Given the description of an element on the screen output the (x, y) to click on. 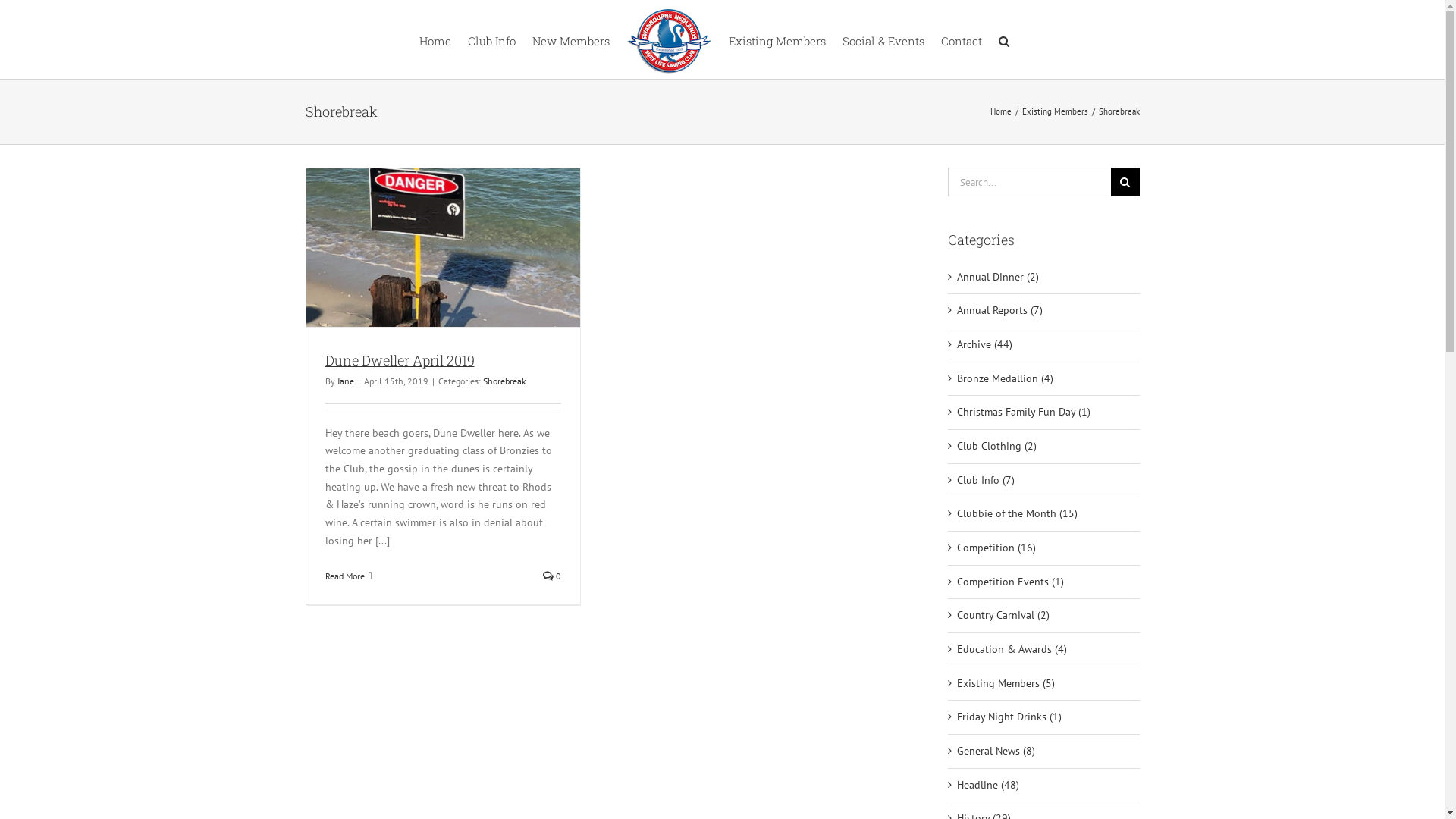
Existing Members (5) Element type: text (1044, 683)
 0 Element type: text (551, 575)
Dune Dweller April 2019 Element type: text (398, 360)
Club Info (7) Element type: text (1044, 480)
Search Element type: hover (1002, 39)
Competition (16) Element type: text (1044, 548)
Existing Members Element type: text (1055, 111)
Club Info Element type: text (490, 39)
Home Element type: text (1000, 111)
Jane Element type: text (344, 380)
Club Clothing (2) Element type: text (1044, 446)
Education & Awards (4) Element type: text (1044, 649)
Christmas Family Fun Day (1) Element type: text (1044, 412)
Friday Night Drinks (1) Element type: text (1044, 717)
Home Element type: text (434, 39)
Read More Element type: text (344, 575)
New Members Element type: text (570, 39)
Bronze Medallion (4) Element type: text (1044, 379)
Annual Reports (7) Element type: text (1044, 310)
Headline (48) Element type: text (1044, 785)
Country Carnival (2) Element type: text (1044, 615)
Annual Dinner (2) Element type: text (1044, 277)
Competition Events (1) Element type: text (1044, 582)
Contact Element type: text (960, 39)
Existing Members Element type: text (776, 39)
General News (8) Element type: text (1044, 751)
Shorebreak Element type: text (503, 380)
Social & Events Element type: text (882, 39)
Clubbie of the Month (15) Element type: text (1044, 514)
Archive (44) Element type: text (1044, 344)
